Given the description of an element on the screen output the (x, y) to click on. 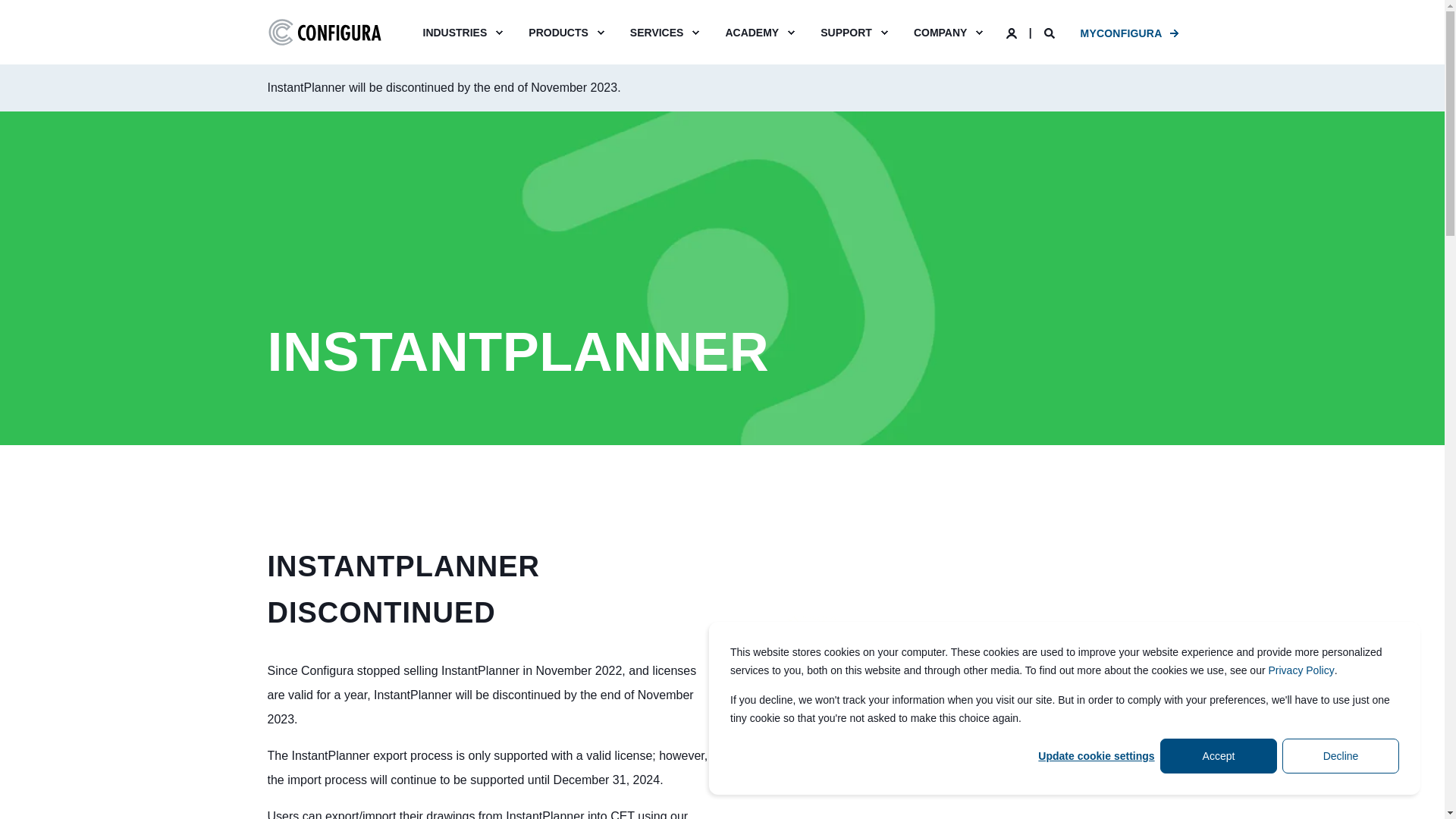
logo (323, 31)
Button TRY CET ESSENTIALS (948, 775)
MyConfigura (1120, 33)
